Given the description of an element on the screen output the (x, y) to click on. 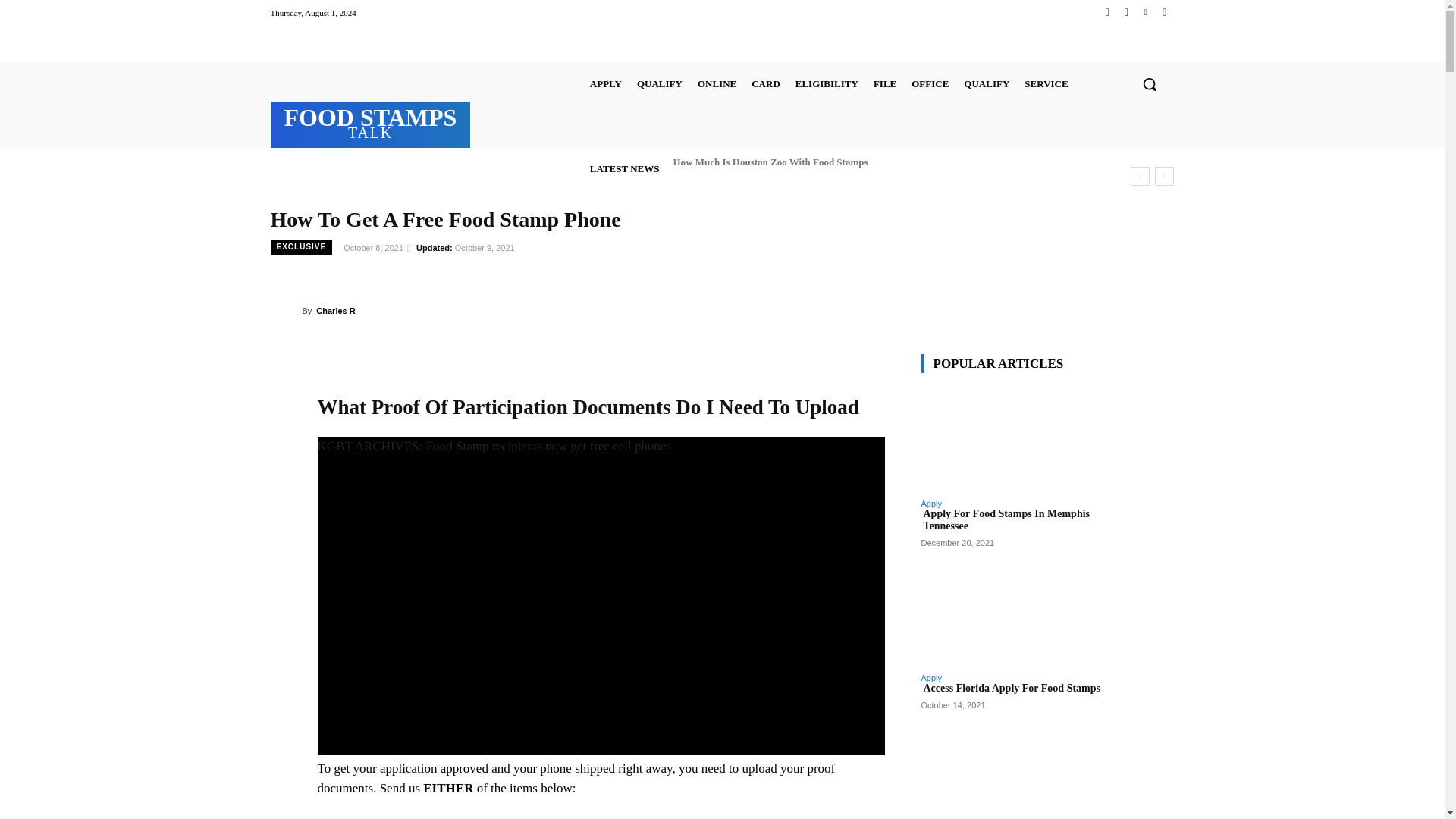
Facebook (1106, 12)
Instagram (1125, 12)
How Much Is Houston Zoo With Food Stamps (769, 161)
Twitter (1144, 12)
Youtube (1163, 12)
